Given the description of an element on the screen output the (x, y) to click on. 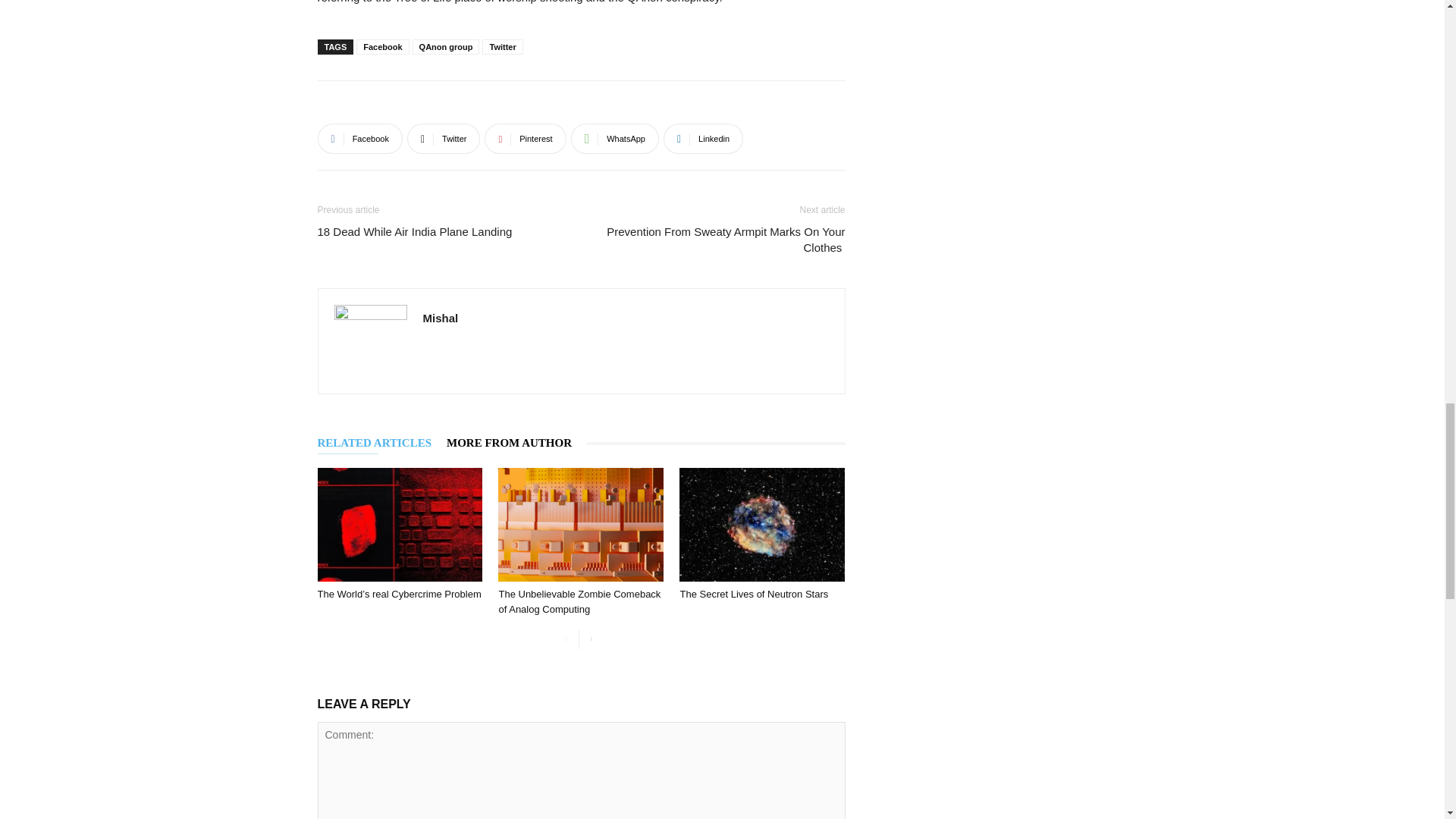
bottomFacebookLike (430, 105)
